Given the description of an element on the screen output the (x, y) to click on. 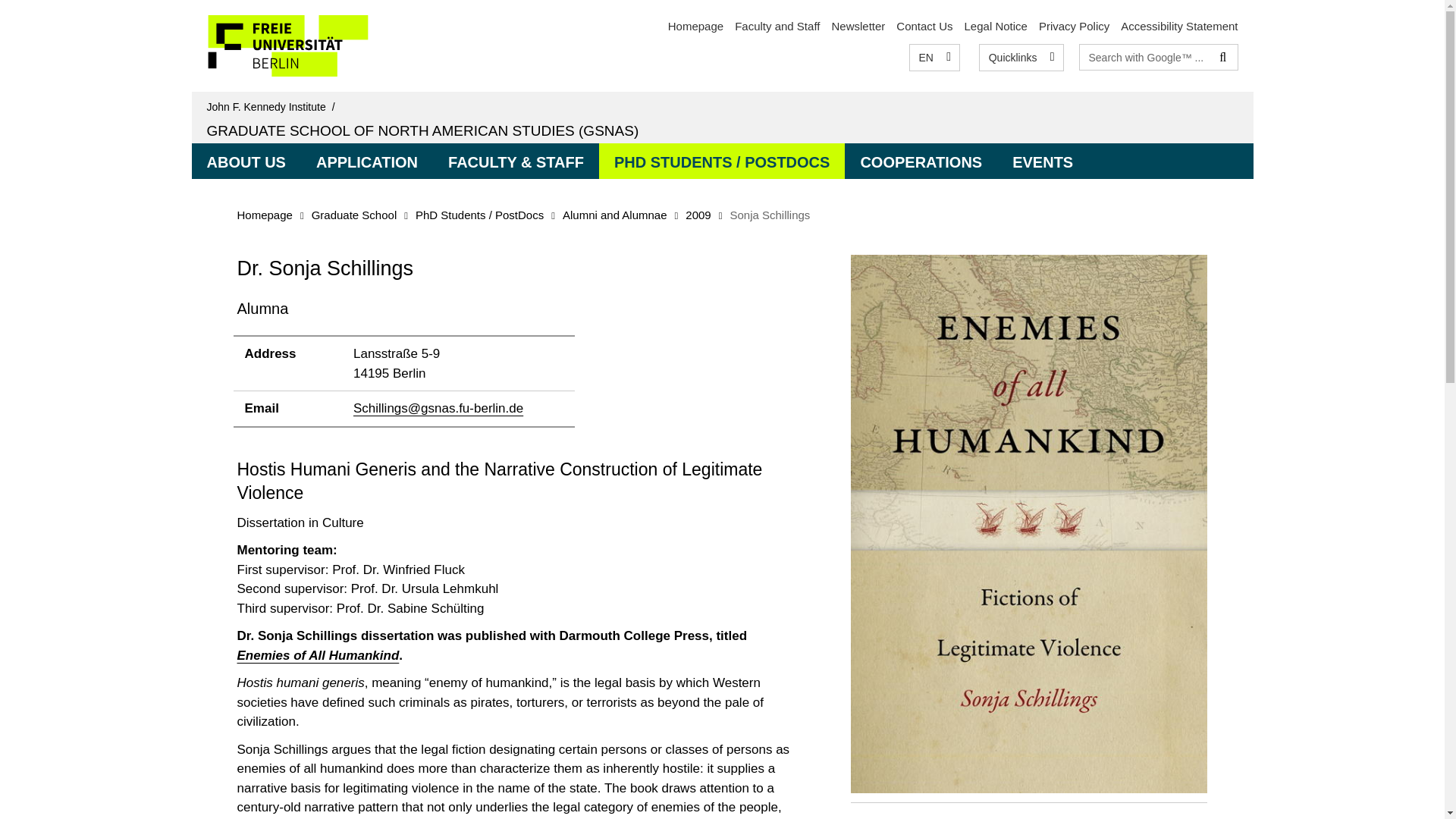
Accessibility Statement (1179, 25)
Contact Us (924, 25)
Newsletter (858, 25)
Privacy Policy (1074, 25)
Legal Notice (995, 25)
Homepage (695, 25)
Faculty and Staff (777, 25)
